Given the description of an element on the screen output the (x, y) to click on. 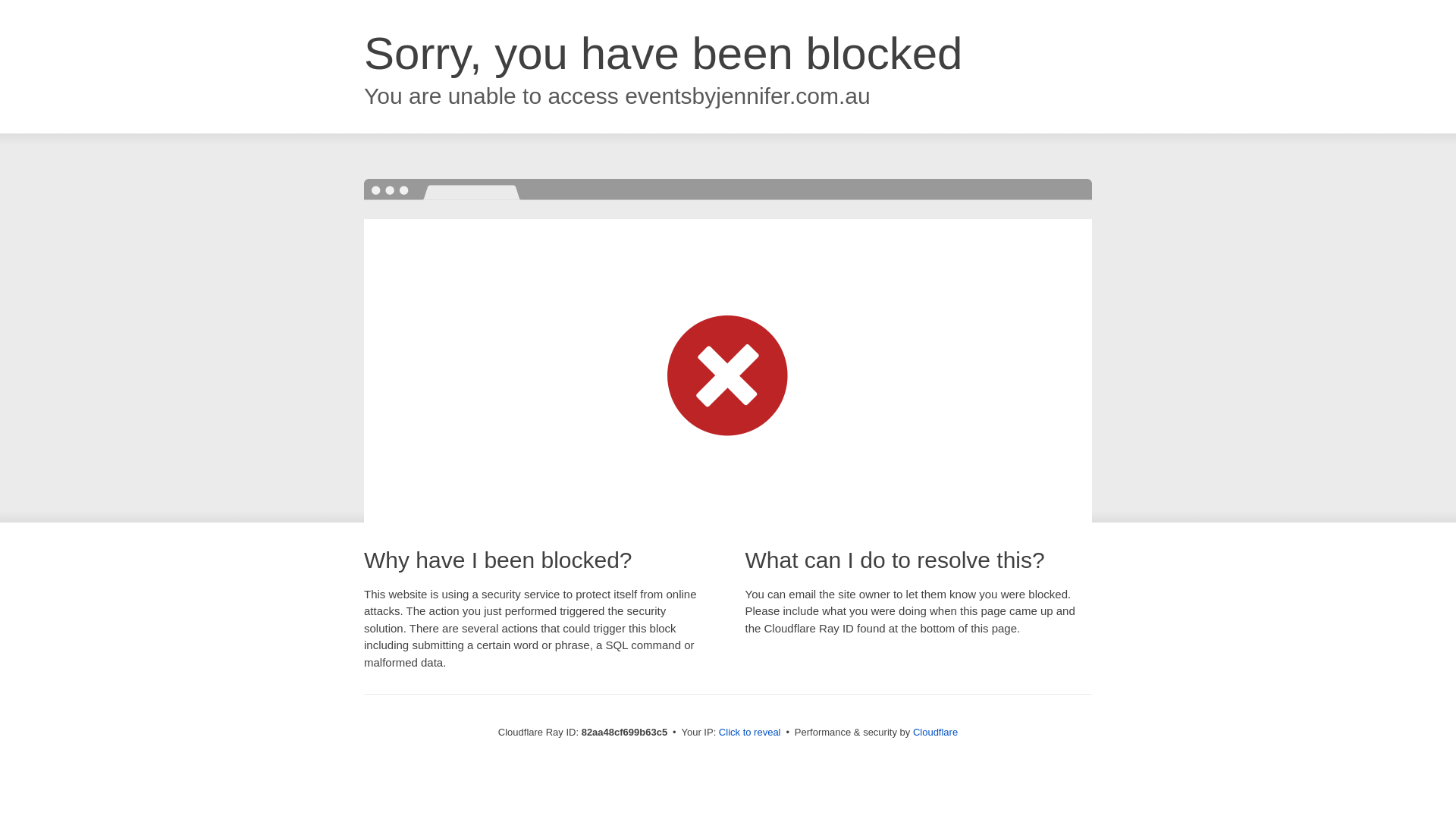
Click to reveal Element type: text (749, 732)
Cloudflare Element type: text (935, 731)
